Given the description of an element on the screen output the (x, y) to click on. 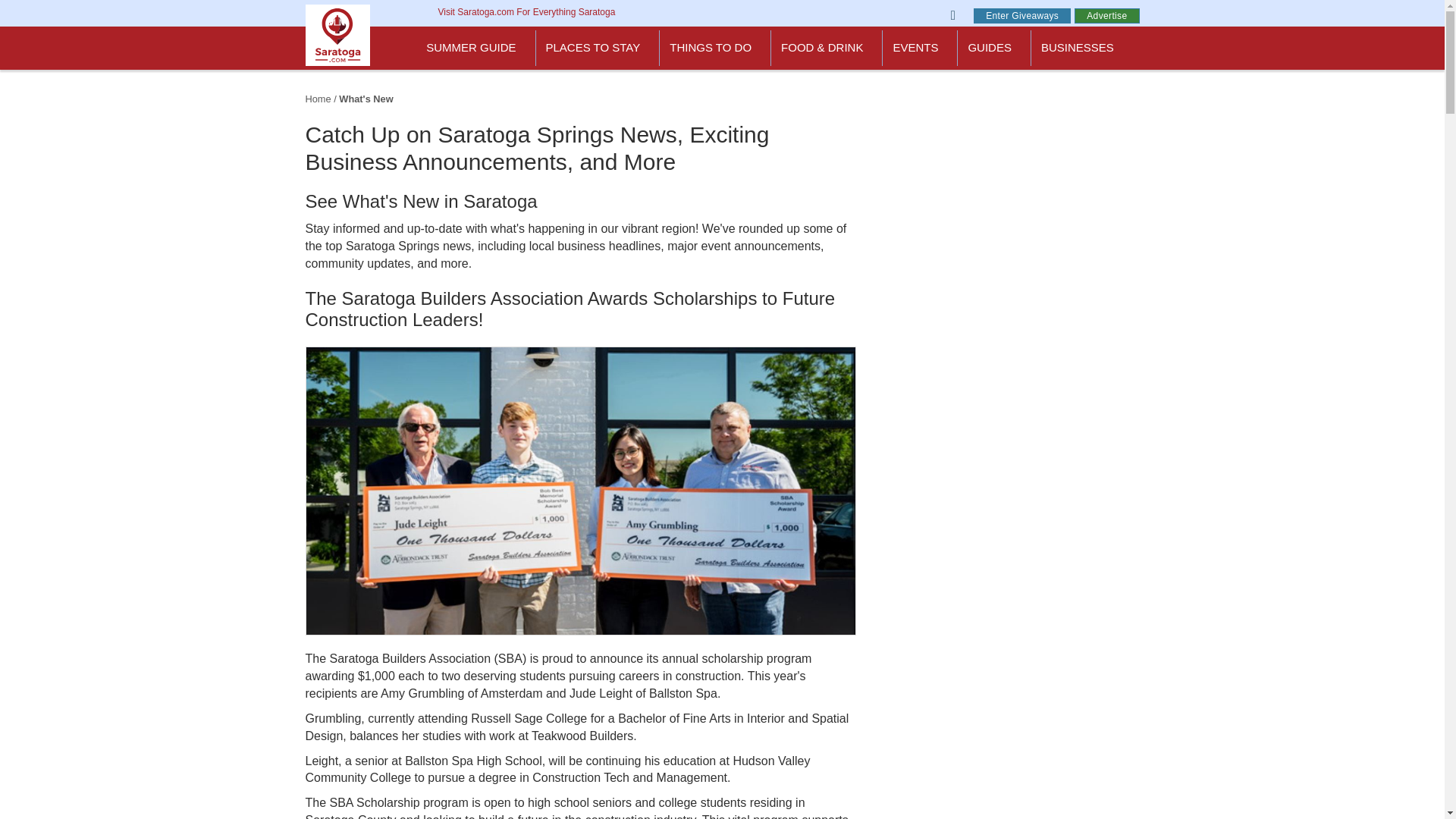
Weather Forecast (757, 0)
THINGS TO DO (715, 48)
Advertise (1106, 14)
Enter Giveaways (1022, 14)
SUMMER GUIDE (475, 48)
PLACES TO STAY (597, 48)
